Given the description of an element on the screen output the (x, y) to click on. 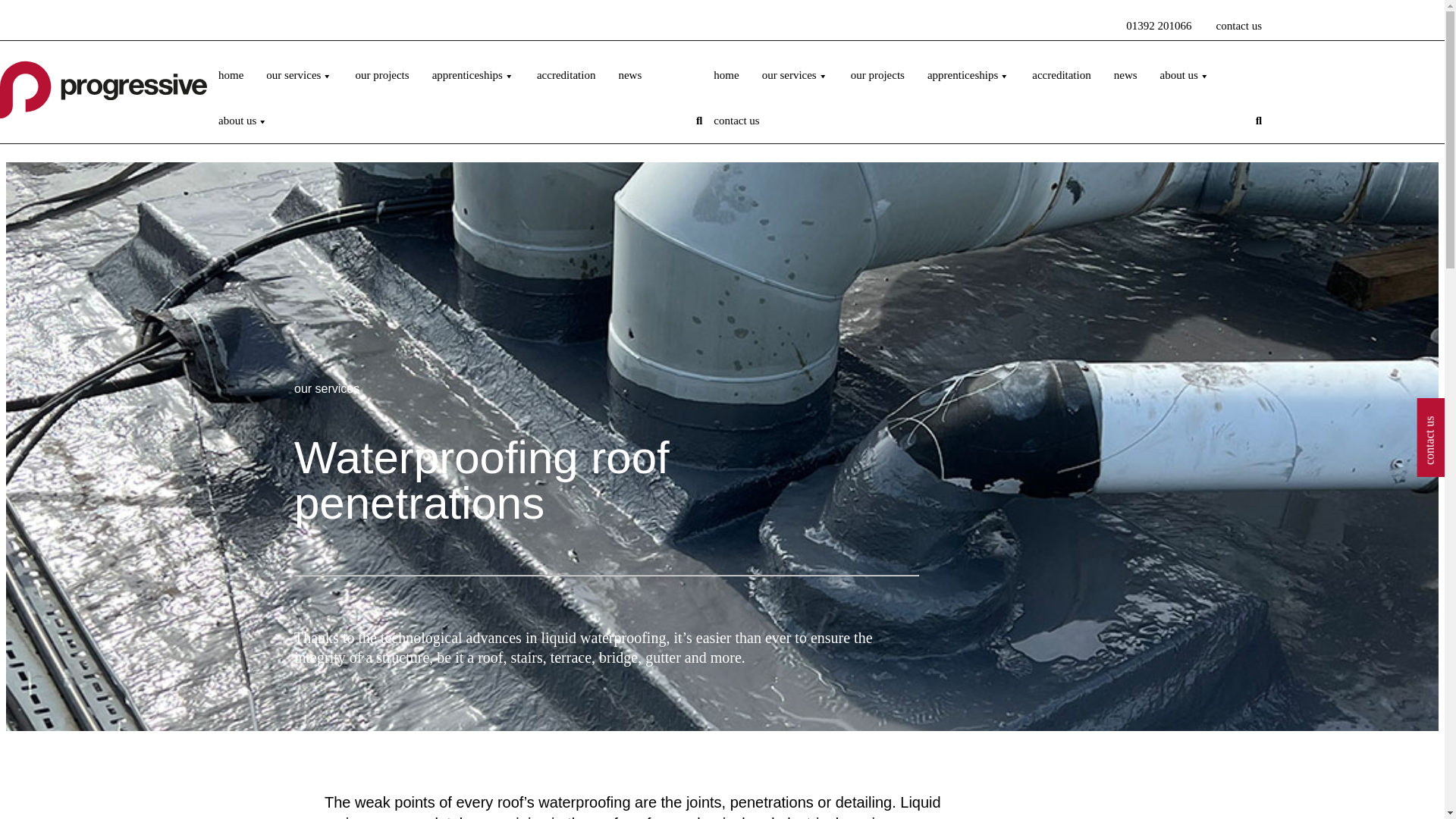
apprenticeships (472, 74)
about us (242, 120)
Skip to main content (60, 13)
news (629, 74)
contact us (1238, 26)
our services (795, 74)
accreditation (566, 74)
01392 201066 (1158, 26)
our services (298, 74)
home (230, 74)
our projects (381, 74)
home (725, 74)
